Given the description of an element on the screen output the (x, y) to click on. 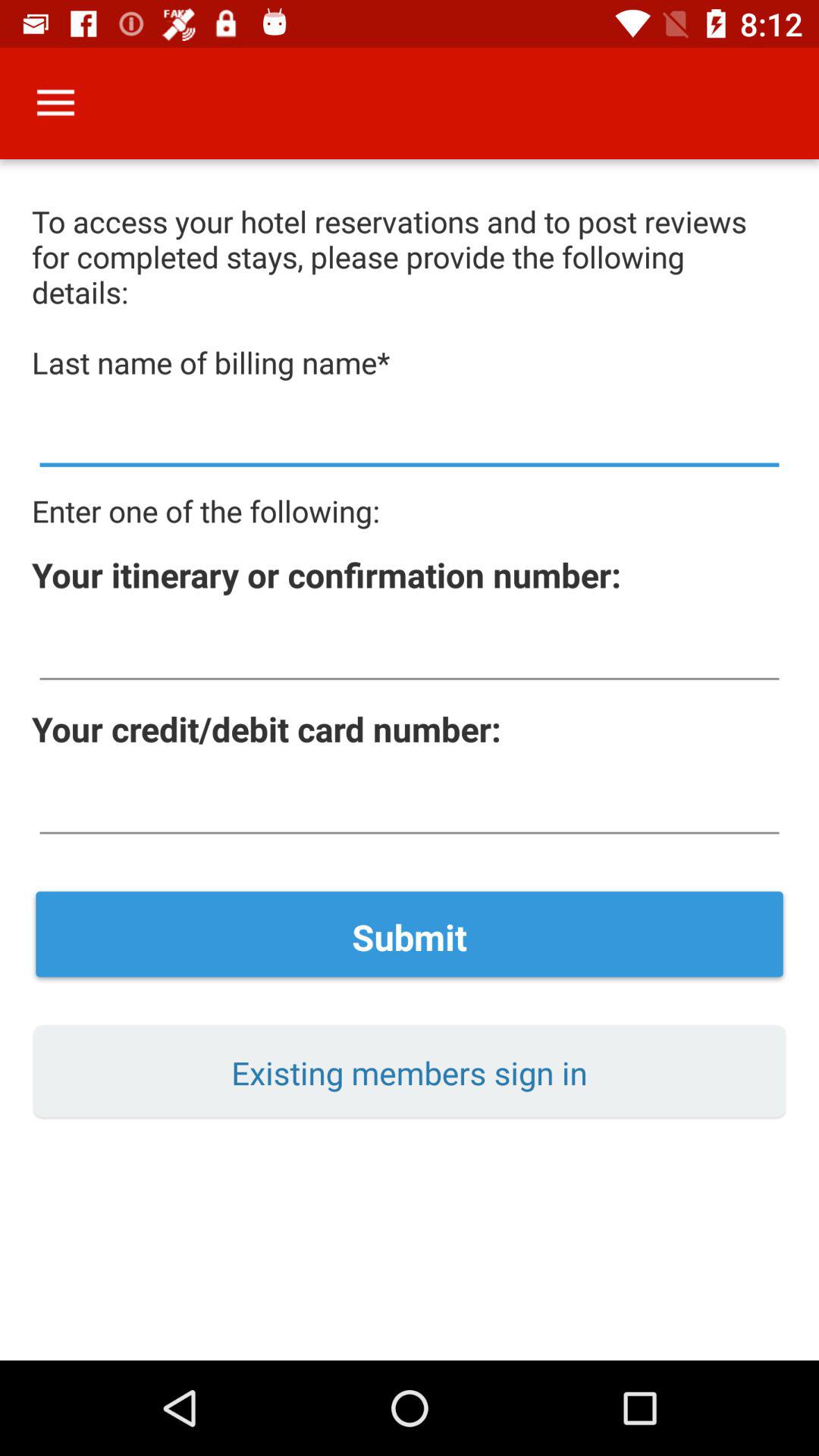
text input for last name (409, 436)
